Given the description of an element on the screen output the (x, y) to click on. 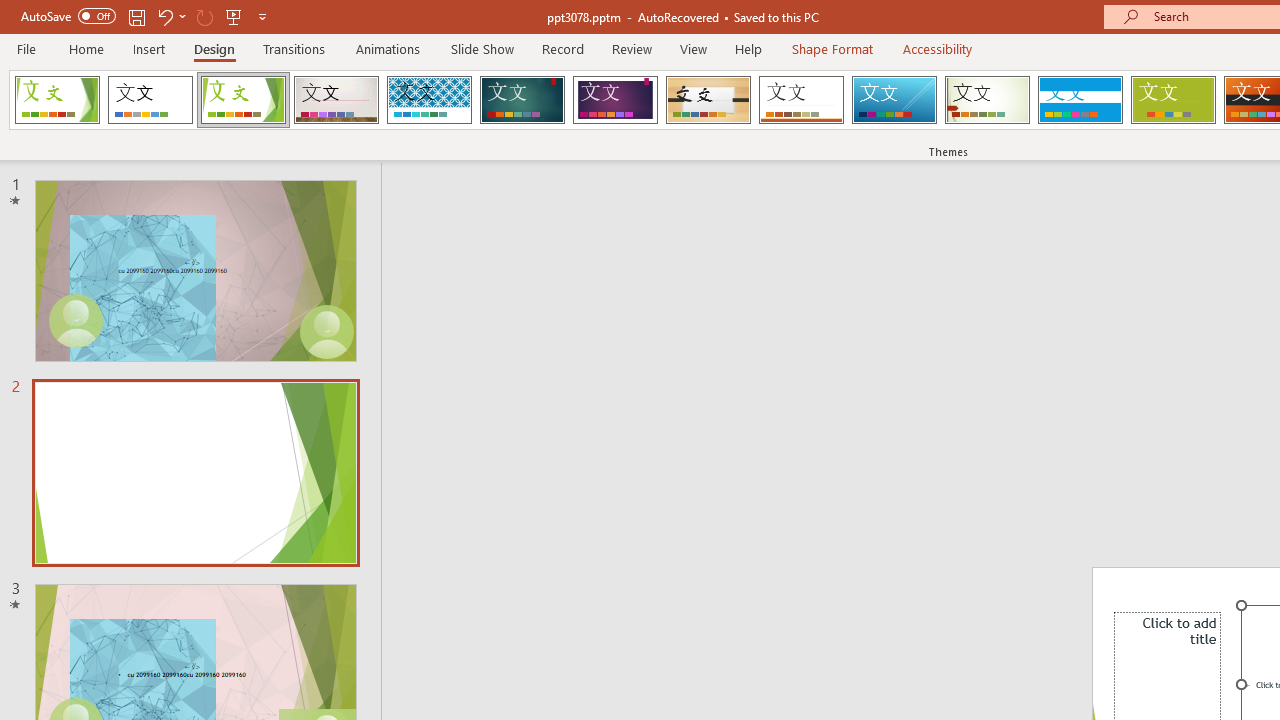
Ion Boardroom (615, 100)
Ion (522, 100)
Retrospect (801, 100)
Organic (708, 100)
